Given the description of an element on the screen output the (x, y) to click on. 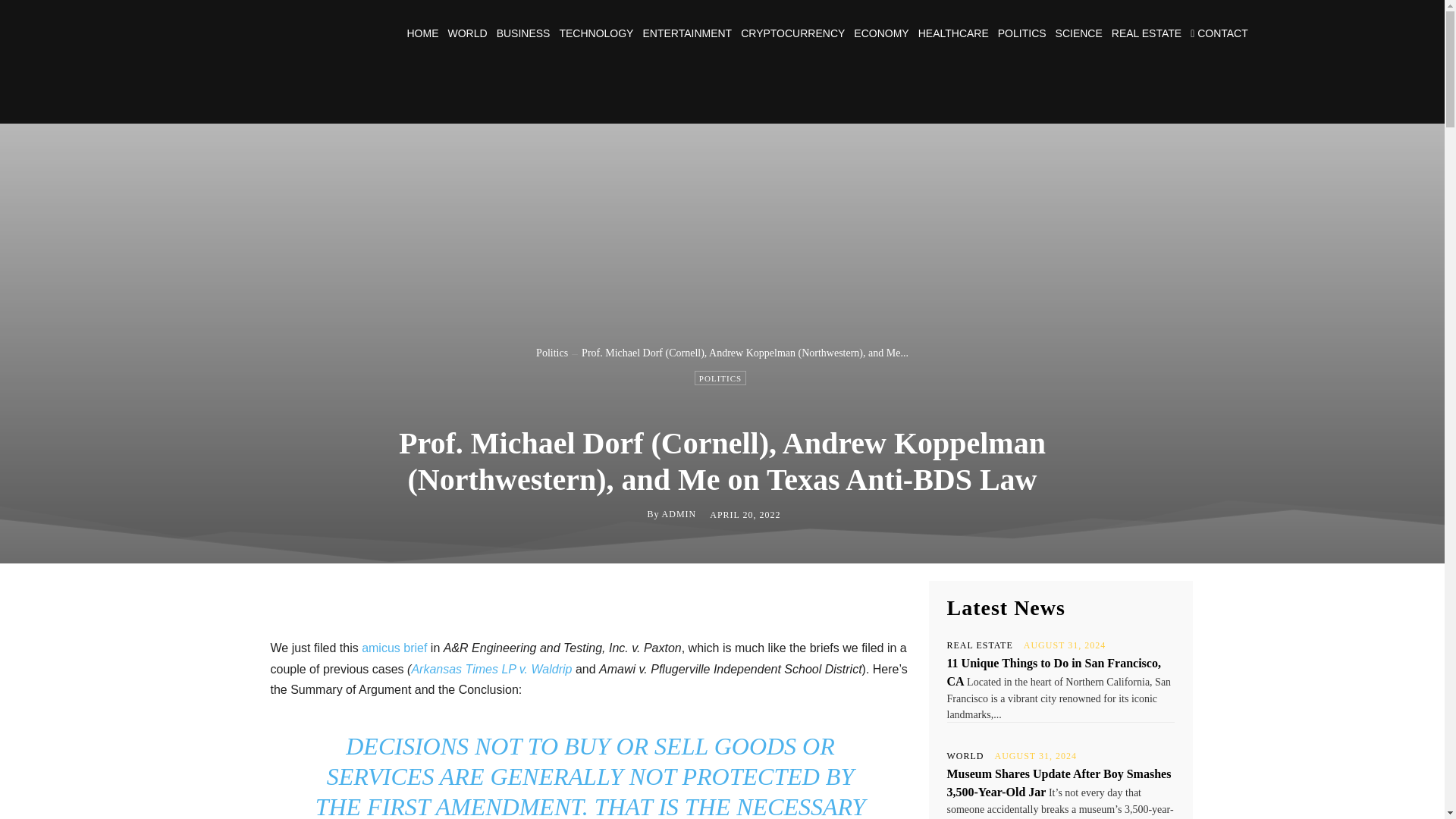
POLITICS (1021, 33)
CONTACT (1219, 33)
TECHNOLOGY (596, 33)
amicus brief (393, 647)
ADMIN (679, 513)
ECONOMY (880, 33)
ENTERTAINMENT (687, 33)
HEALTHCARE (953, 33)
POLITICS (719, 377)
BUSINESS (523, 33)
